Given the description of an element on the screen output the (x, y) to click on. 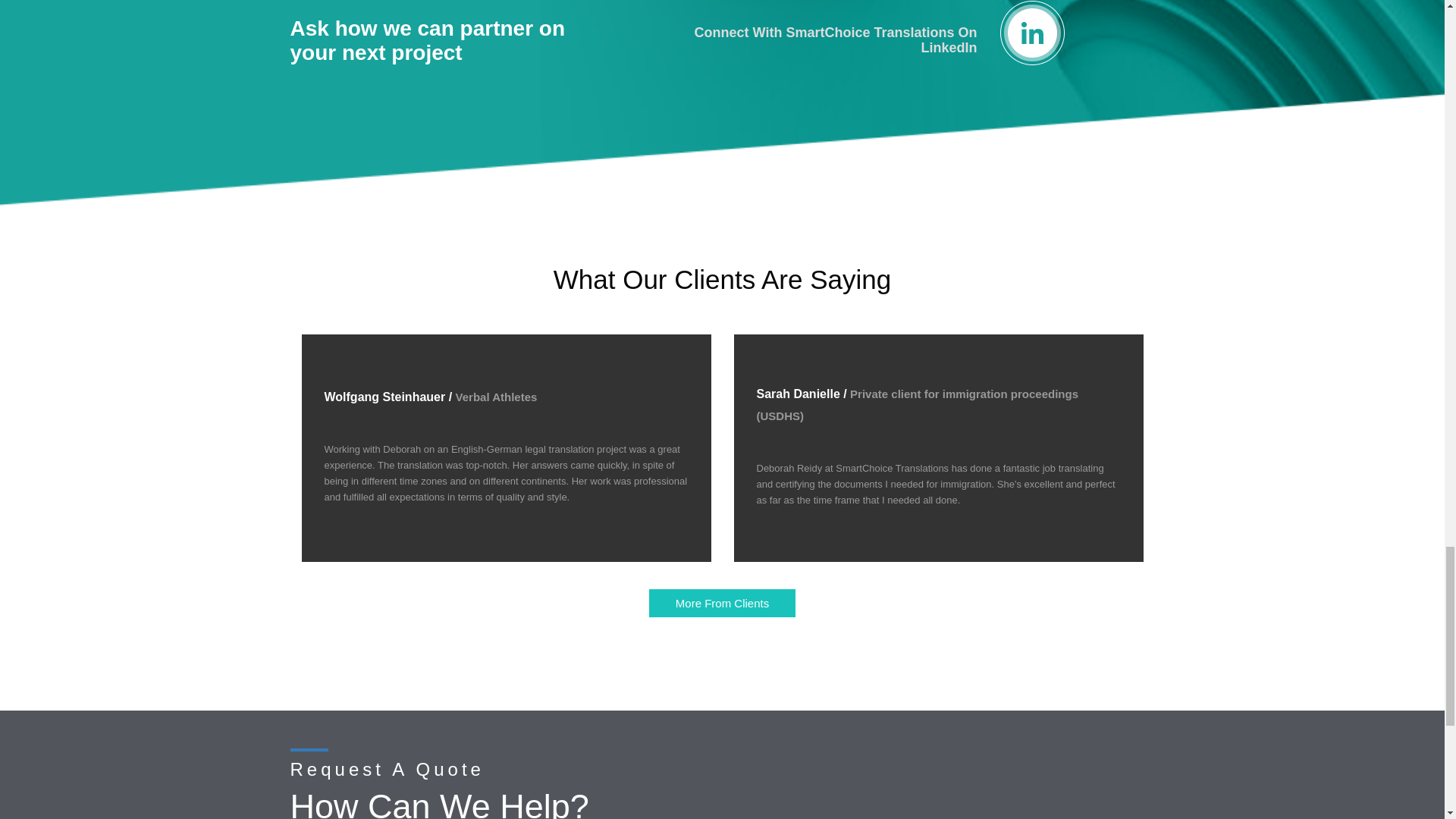
Request A Quote (426, 40)
More From Clients (721, 603)
Connect With SmartChoice Translations On LinkedIn (426, 40)
Why Choose Us (835, 40)
link-social (721, 603)
